Given the description of an element on the screen output the (x, y) to click on. 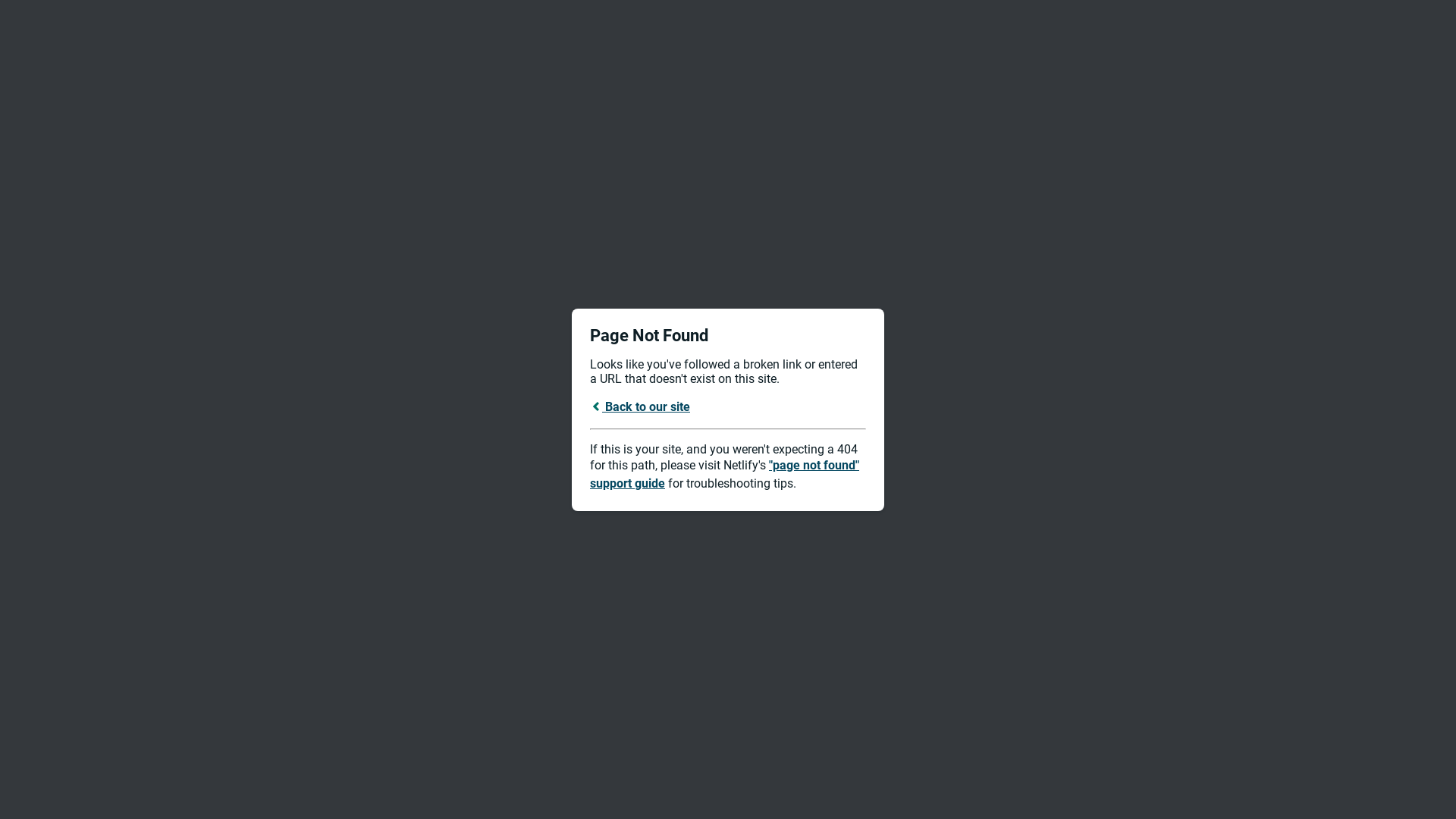
Back to our site Element type: text (639, 405)
"page not found" support guide Element type: text (724, 474)
